Given the description of an element on the screen output the (x, y) to click on. 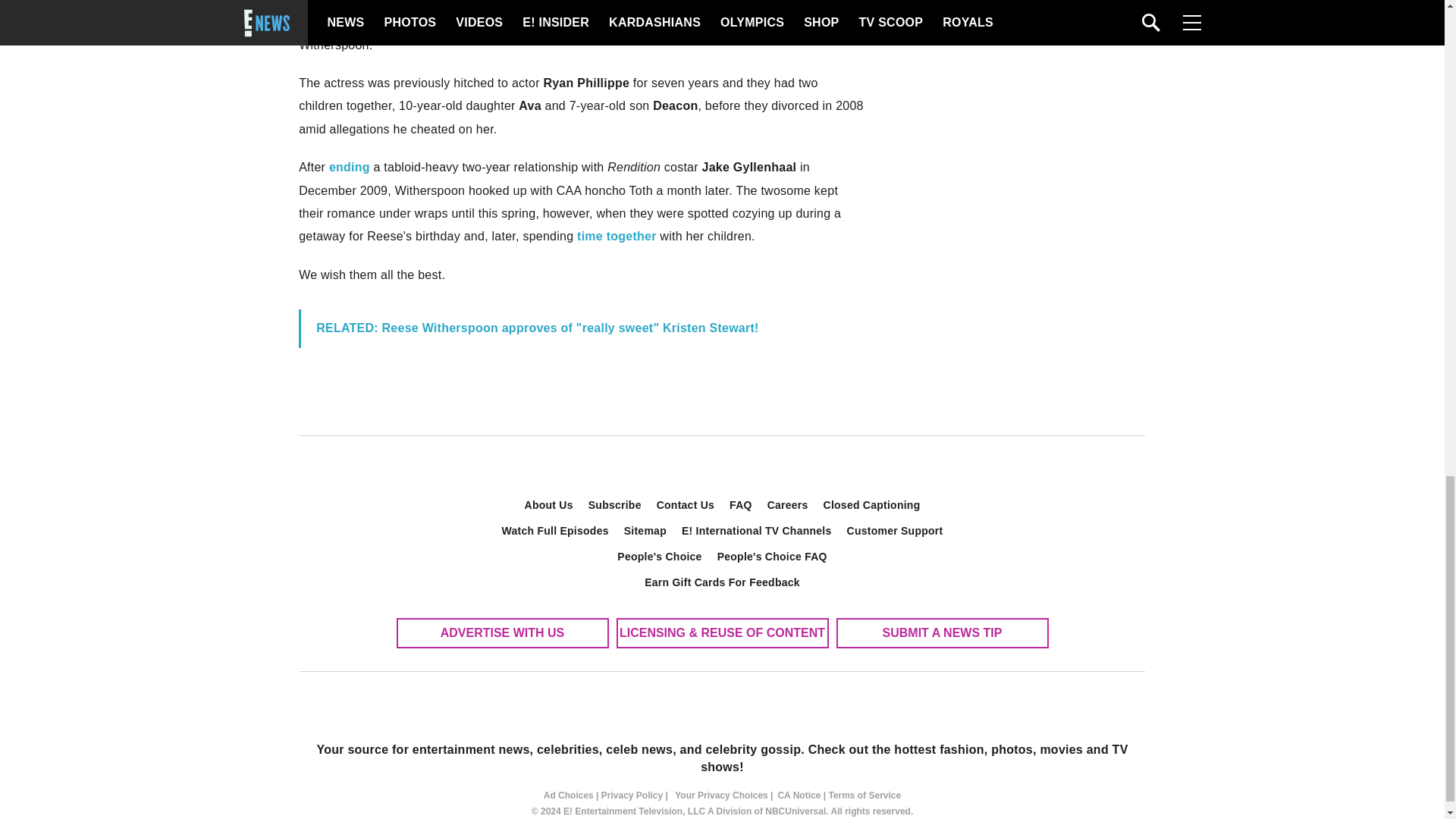
About Us (548, 504)
time together (617, 236)
Subscribe (614, 504)
Contact Us (685, 504)
ending (349, 166)
